Given the description of an element on the screen output the (x, y) to click on. 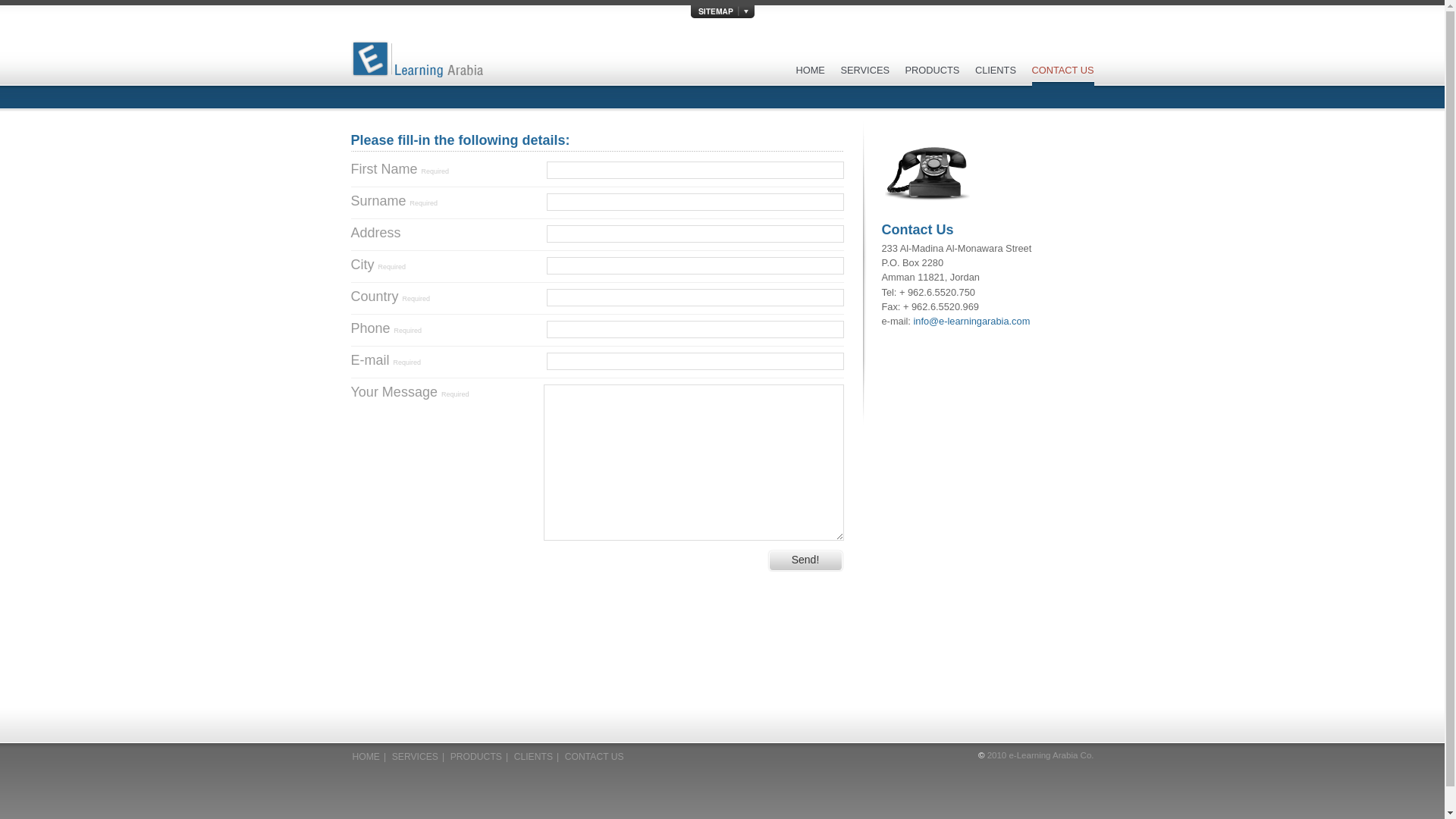
SERVICES Element type: text (864, 77)
HOME Element type: text (810, 77)
PRODUCTS Element type: text (476, 756)
CLIENTS Element type: text (995, 77)
PRODUCTS Element type: text (932, 77)
CONTACT US Element type: text (594, 756)
SERVICES Element type: text (415, 756)
HOME Element type: text (365, 756)
eLA Home Page Element type: hover (416, 62)
info@e-learningarabia.com Element type: text (971, 320)
CONTACT US Element type: text (1062, 77)
CLIENTS Element type: text (533, 756)
